Given the description of an element on the screen output the (x, y) to click on. 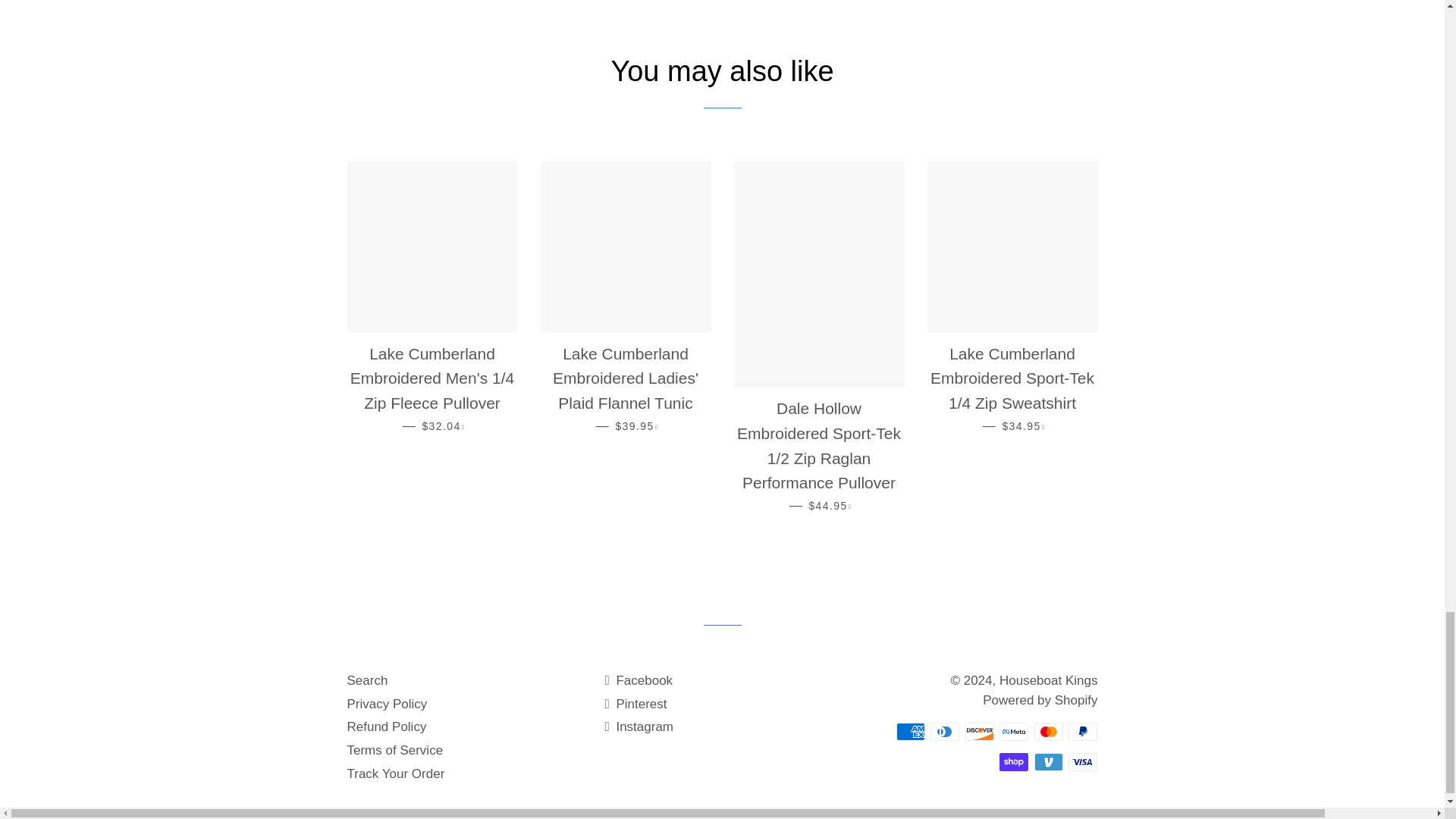
Discover (979, 731)
Houseboat Kings on Pinterest (635, 703)
Shop Pay (1012, 761)
PayPal (1082, 731)
Houseboat Kings on Facebook (638, 680)
Meta Pay (1012, 731)
Mastercard (1047, 731)
Visa (1082, 761)
Diners Club (944, 731)
Venmo (1047, 761)
